Given the description of an element on the screen output the (x, y) to click on. 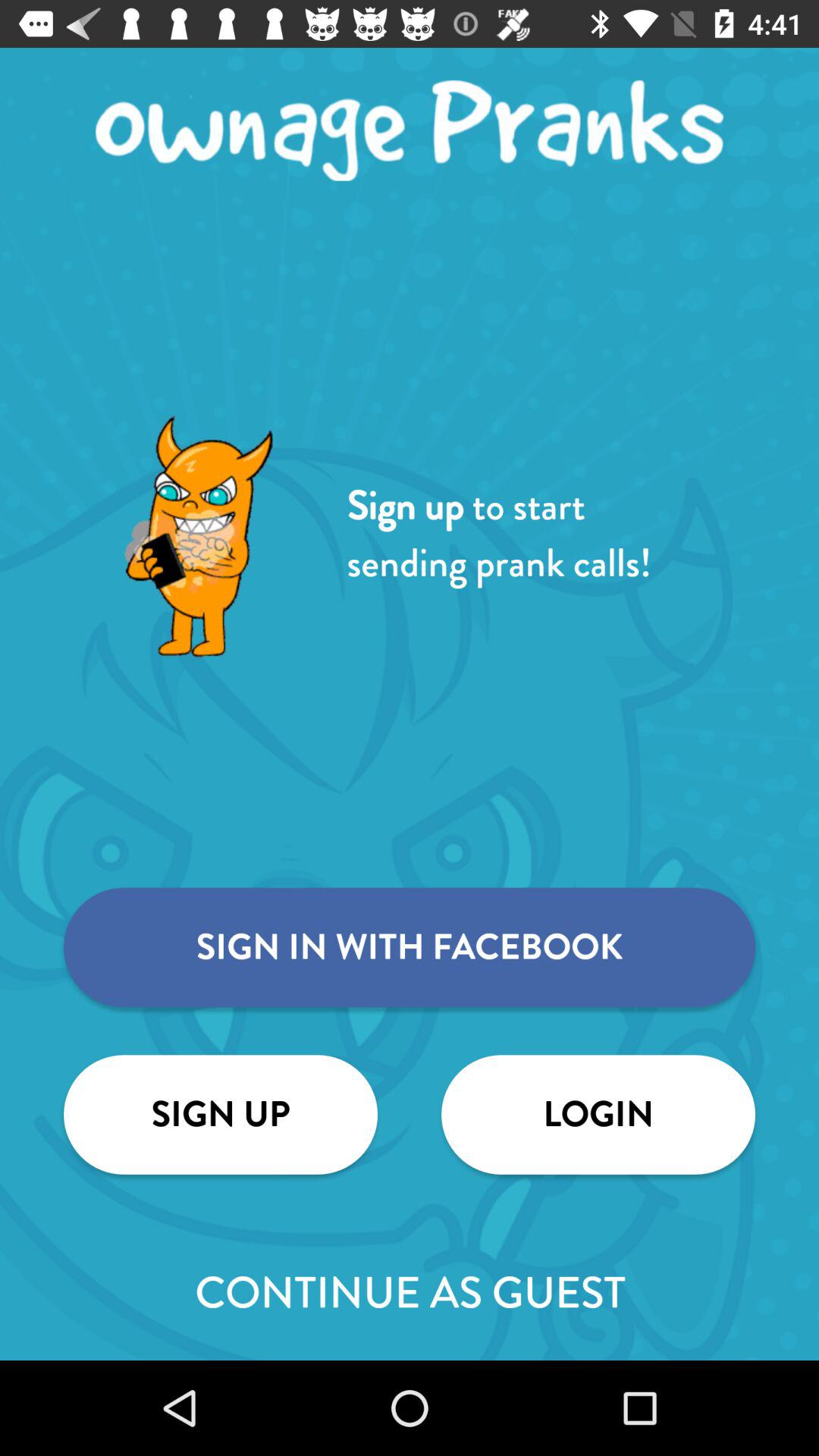
tap item above continue as guest (598, 1114)
